Given the description of an element on the screen output the (x, y) to click on. 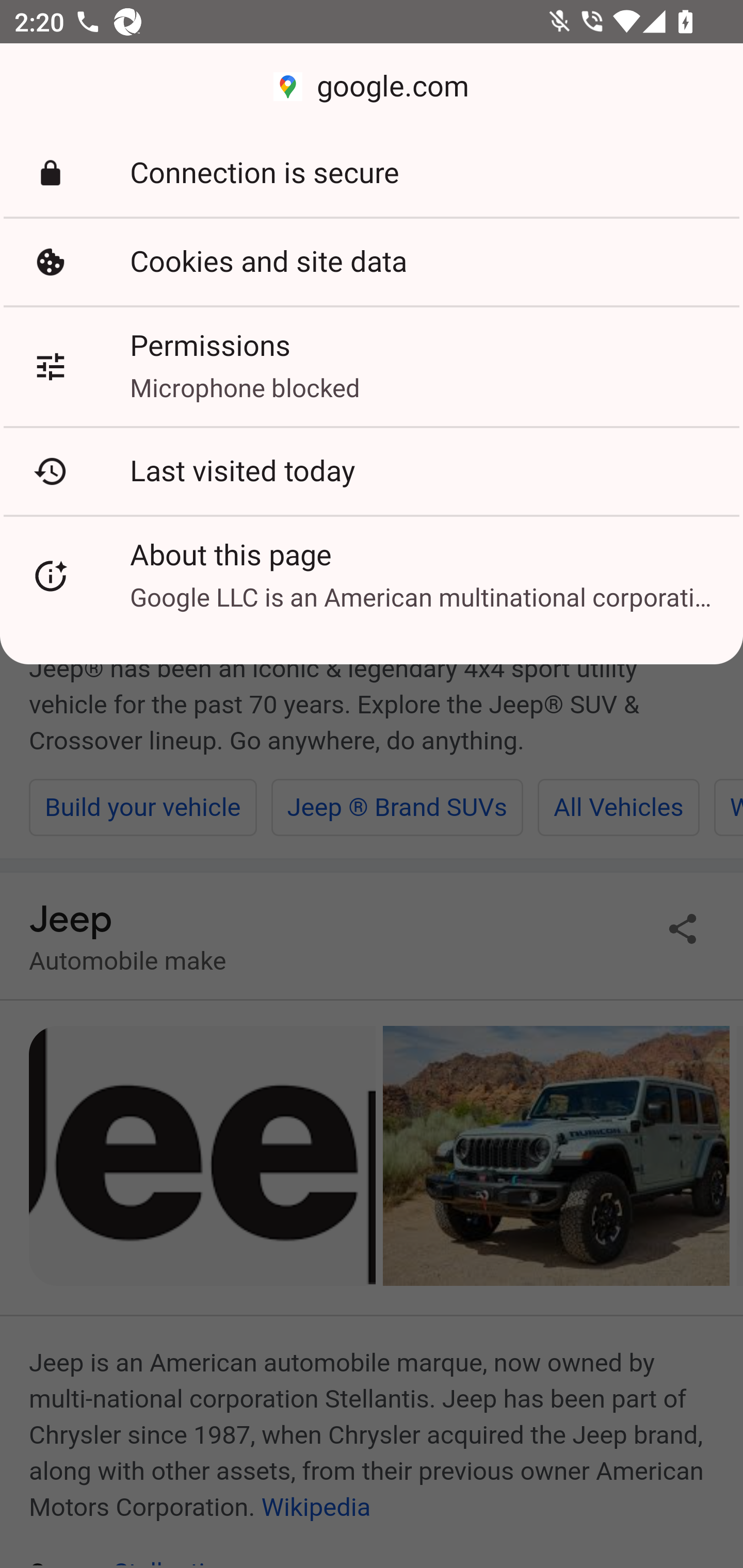
google.com (371, 86)
Connection is secure (371, 173)
Cookies and site data (371, 261)
Permissions Microphone blocked (371, 366)
Last visited today (371, 471)
